Given the description of an element on the screen output the (x, y) to click on. 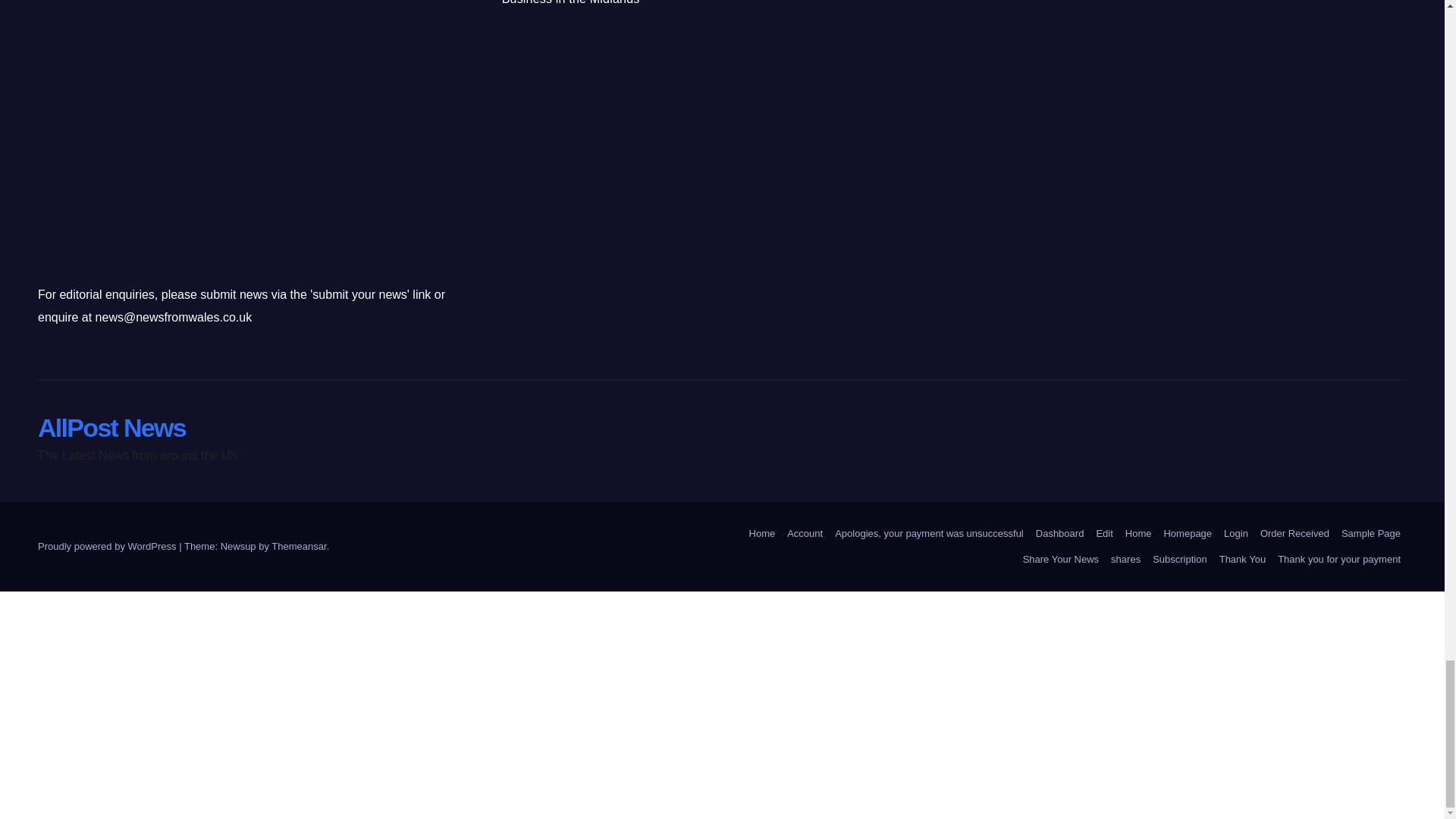
Home (761, 533)
